Given the description of an element on the screen output the (x, y) to click on. 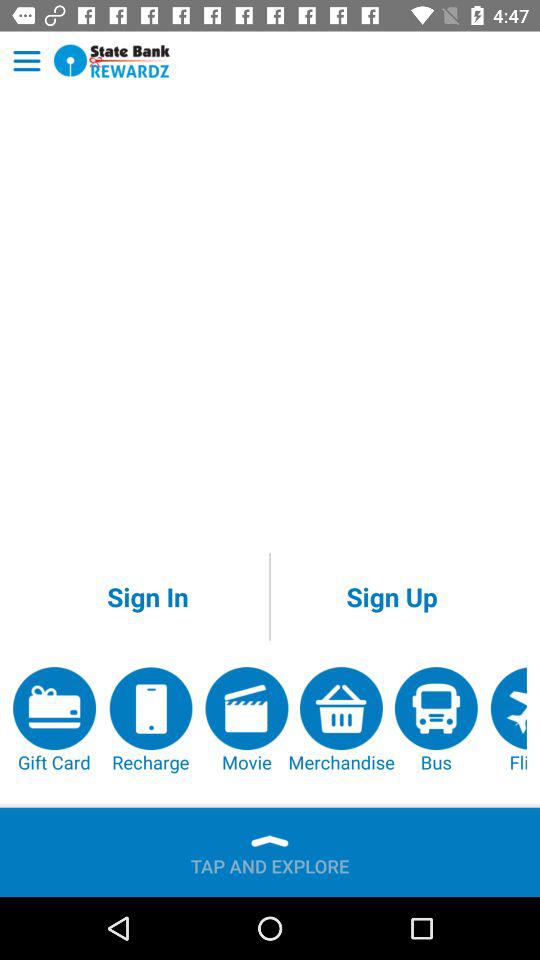
open icon below sign in app (246, 720)
